Given the description of an element on the screen output the (x, y) to click on. 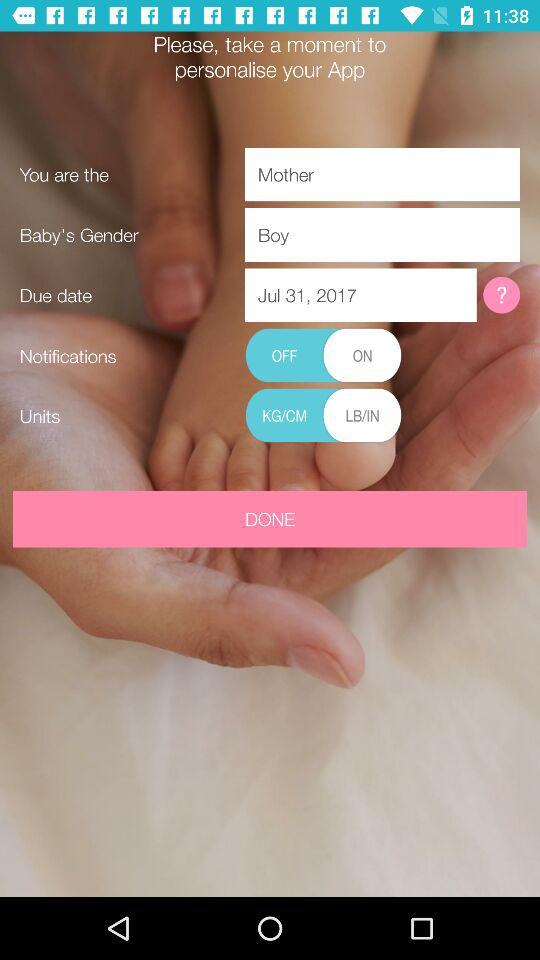
select the notifications (323, 355)
